Given the description of an element on the screen output the (x, y) to click on. 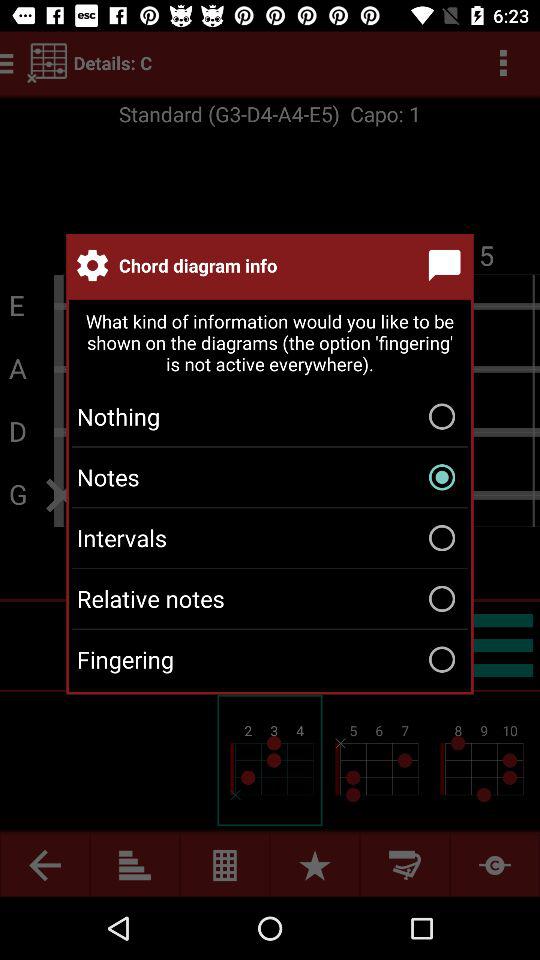
open the icon below the what kind of icon (269, 416)
